Given the description of an element on the screen output the (x, y) to click on. 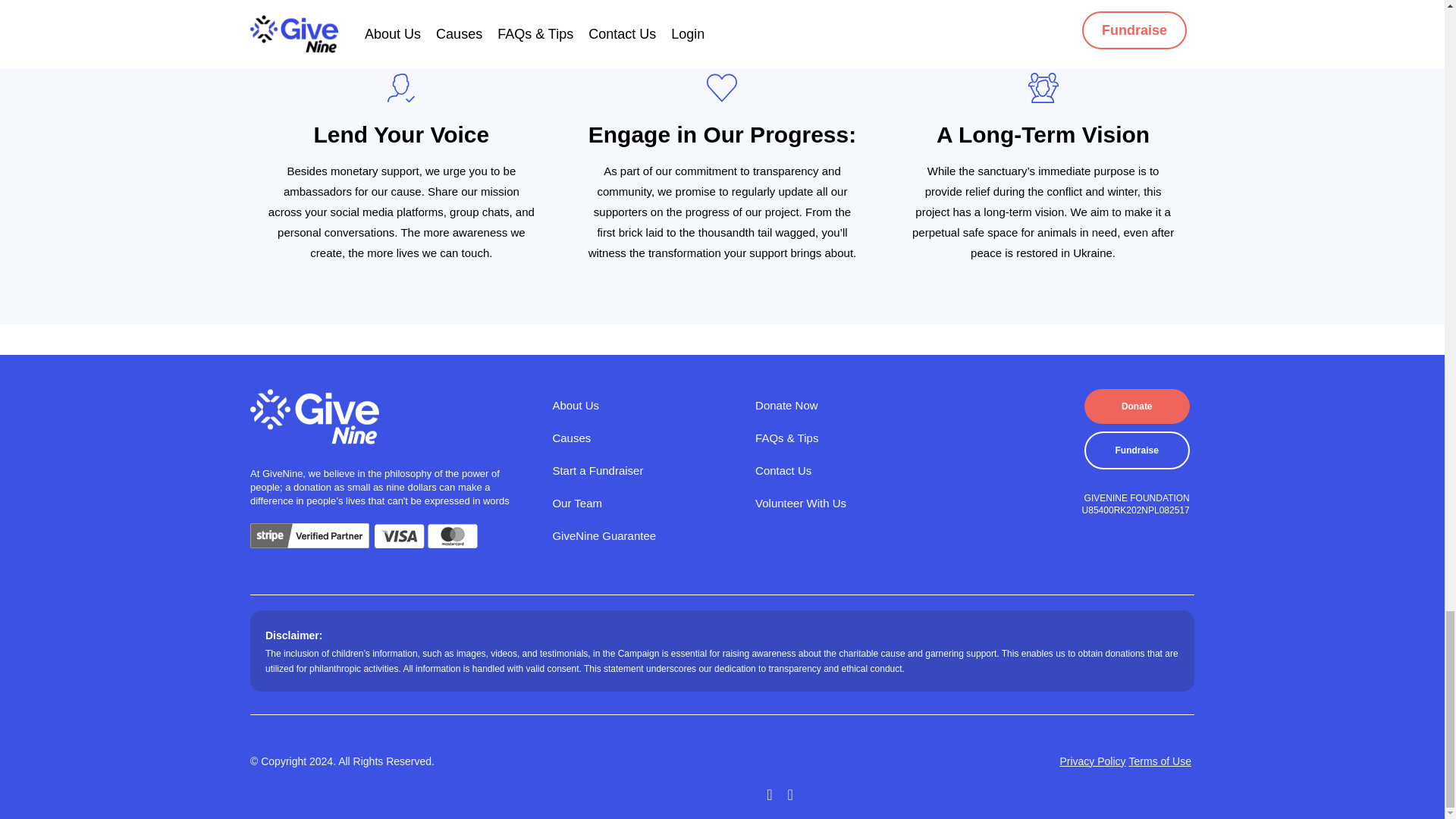
About Us (643, 404)
Privacy Policy (1092, 761)
Volunteer With Us (847, 503)
Start a Fundraiser (643, 470)
Contact Us (847, 470)
Fundraise (1136, 450)
GiveNine Guarantee (643, 535)
Donate Now (847, 404)
Causes (643, 437)
Our Team (643, 503)
